Given the description of an element on the screen output the (x, y) to click on. 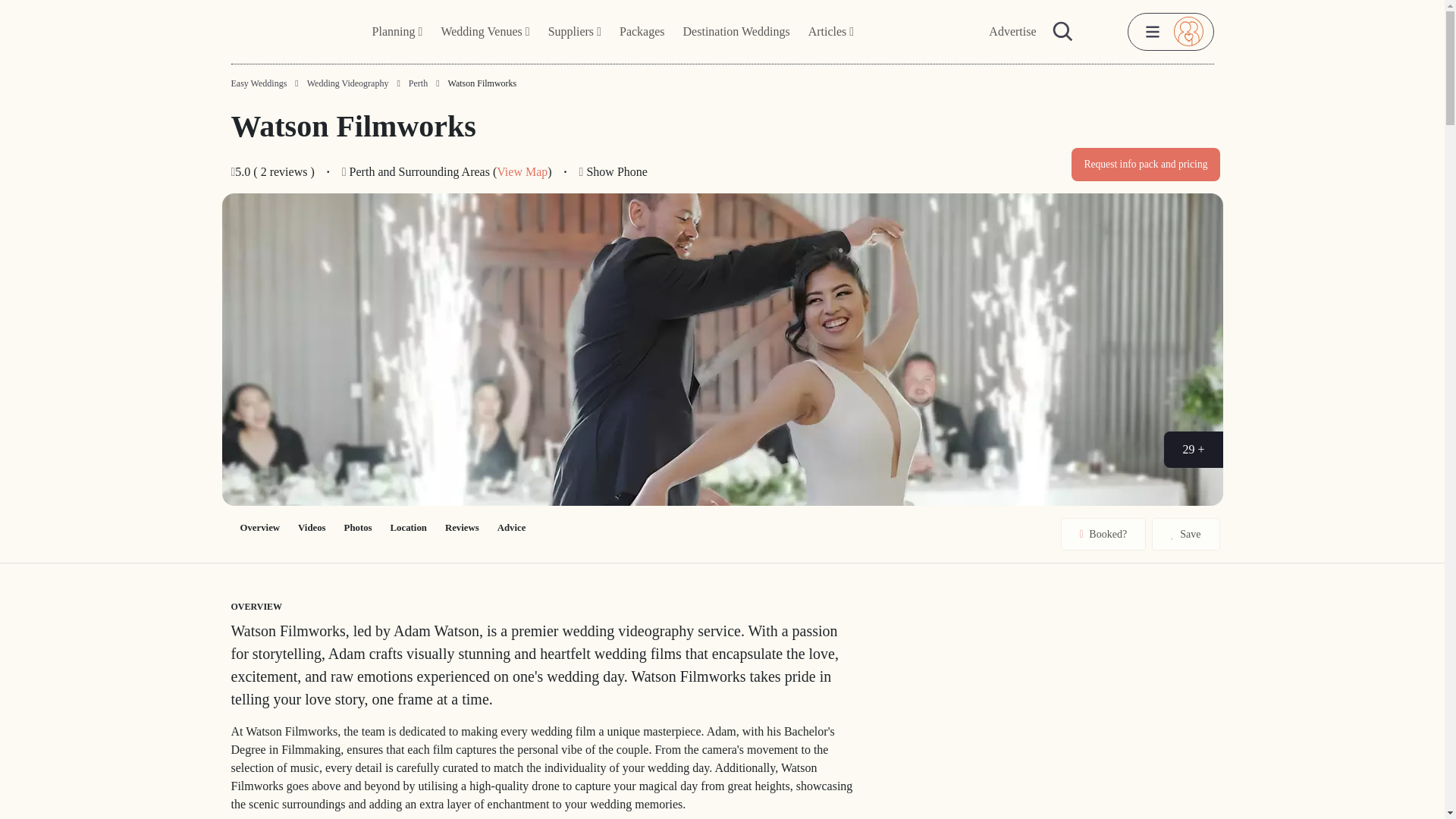
Overview (259, 528)
Save (1185, 533)
Wedding Videography (347, 83)
Advertise (1012, 31)
2 reviews (285, 171)
Perth (418, 82)
Easy Weddings (258, 83)
View Map (521, 171)
Advice (511, 528)
Articles (831, 31)
Suppliers (574, 31)
Photos (357, 528)
Booked? (1103, 533)
Reviews (461, 528)
